Given the description of an element on the screen output the (x, y) to click on. 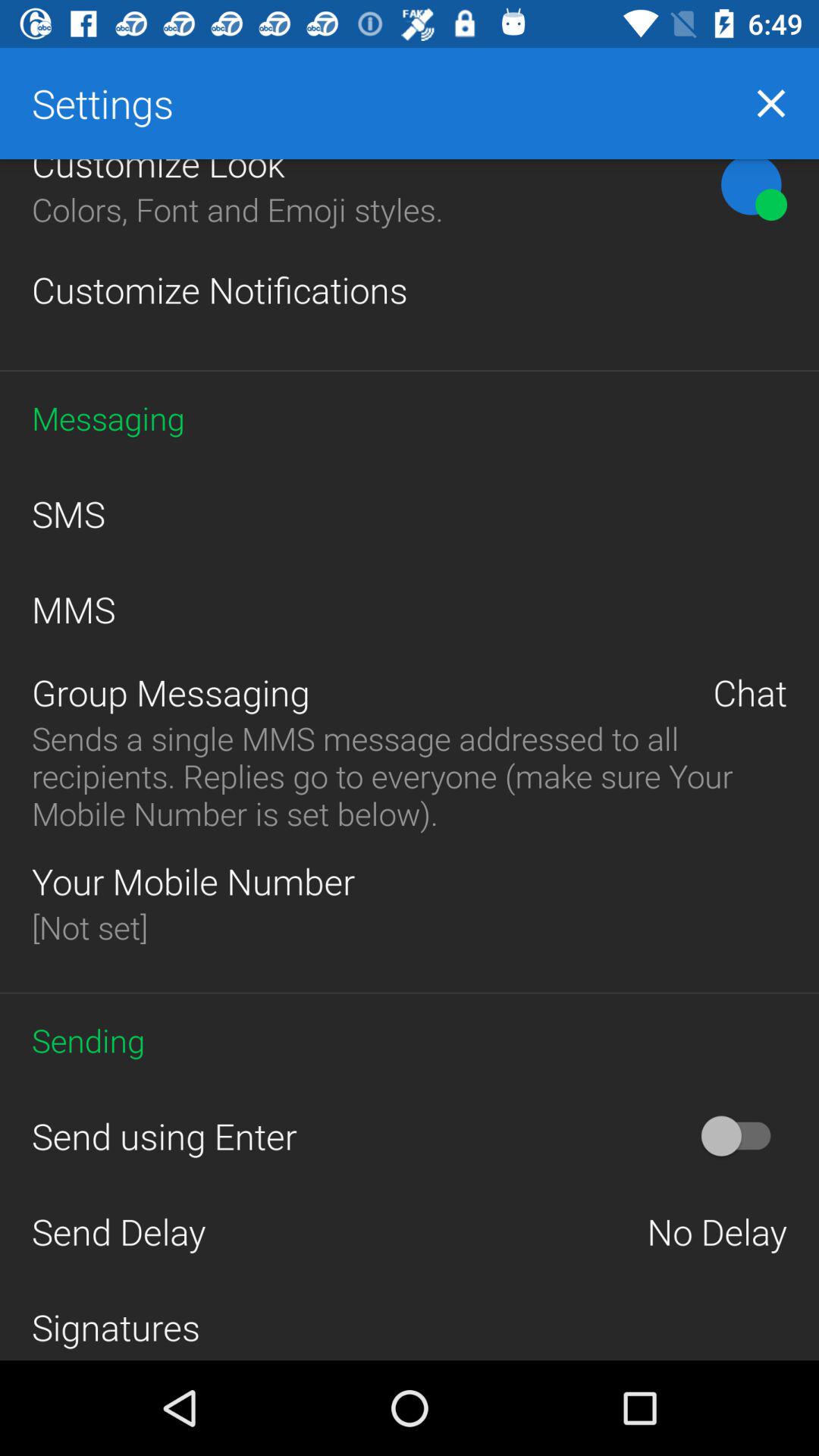
press icon to the right of settings item (771, 103)
